Given the description of an element on the screen output the (x, y) to click on. 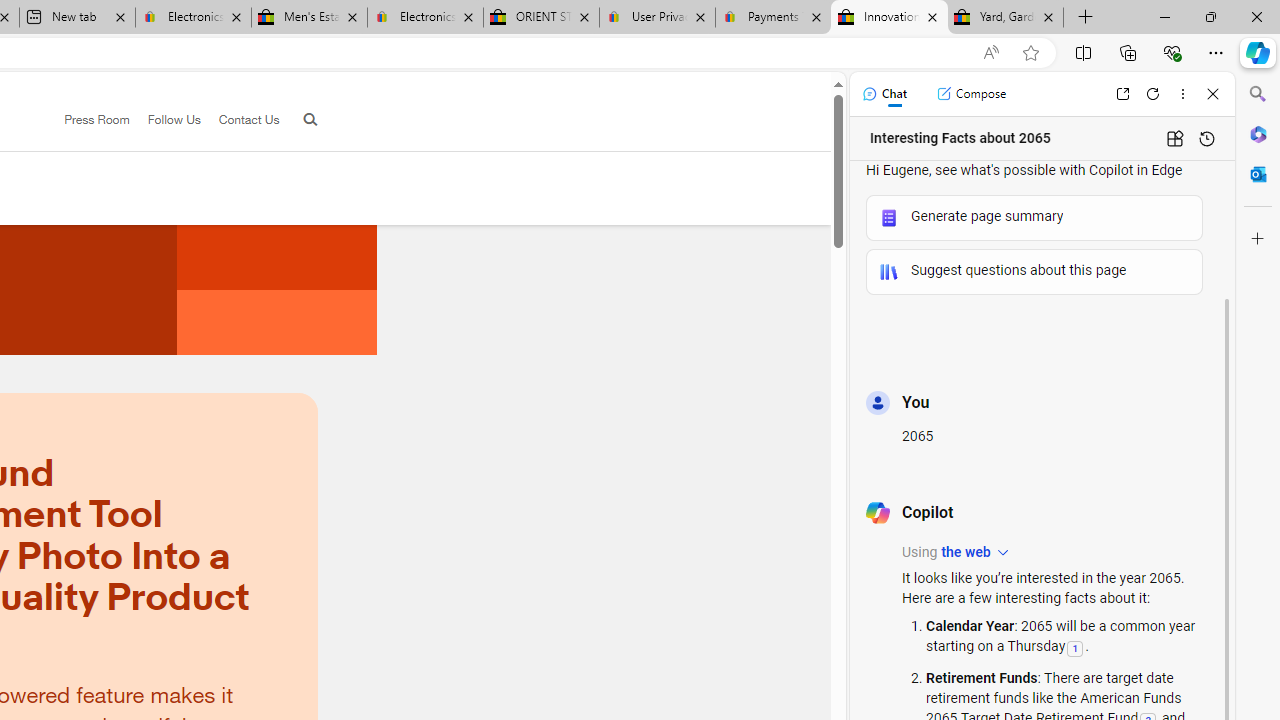
Press Room (88, 120)
Follow Us (164, 120)
